Given the description of an element on the screen output the (x, y) to click on. 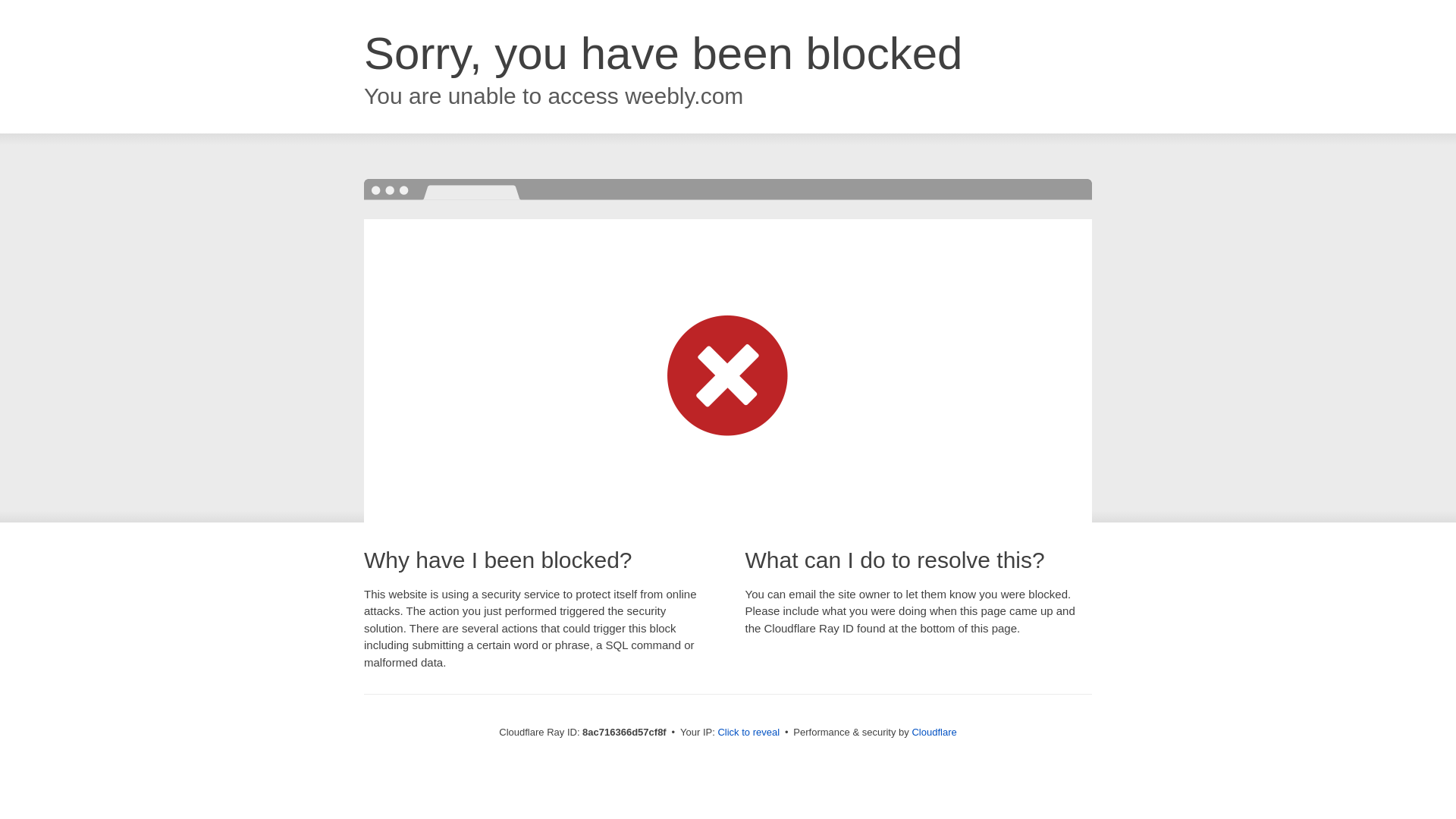
Cloudflare (933, 731)
Click to reveal (747, 732)
